Given the description of an element on the screen output the (x, y) to click on. 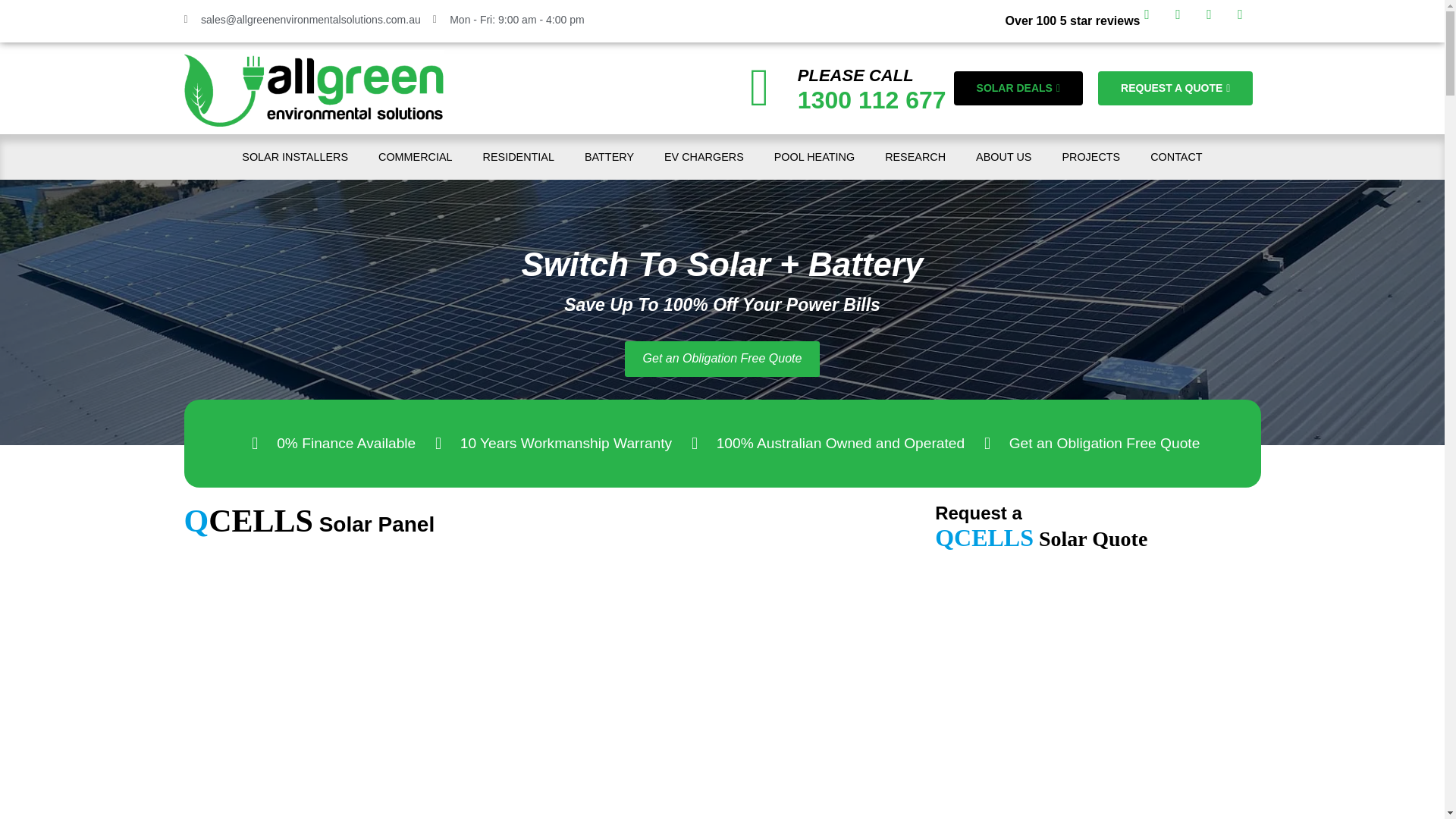
EV Chargers (703, 156)
Pool Heating (813, 156)
Residential solar installers for homes (518, 156)
Commercial Solar (414, 156)
All Green Environmental Solutions logo (313, 87)
Solar Battery Installers (609, 156)
Solar Installers Central Coast (294, 156)
